Given the description of an element on the screen output the (x, y) to click on. 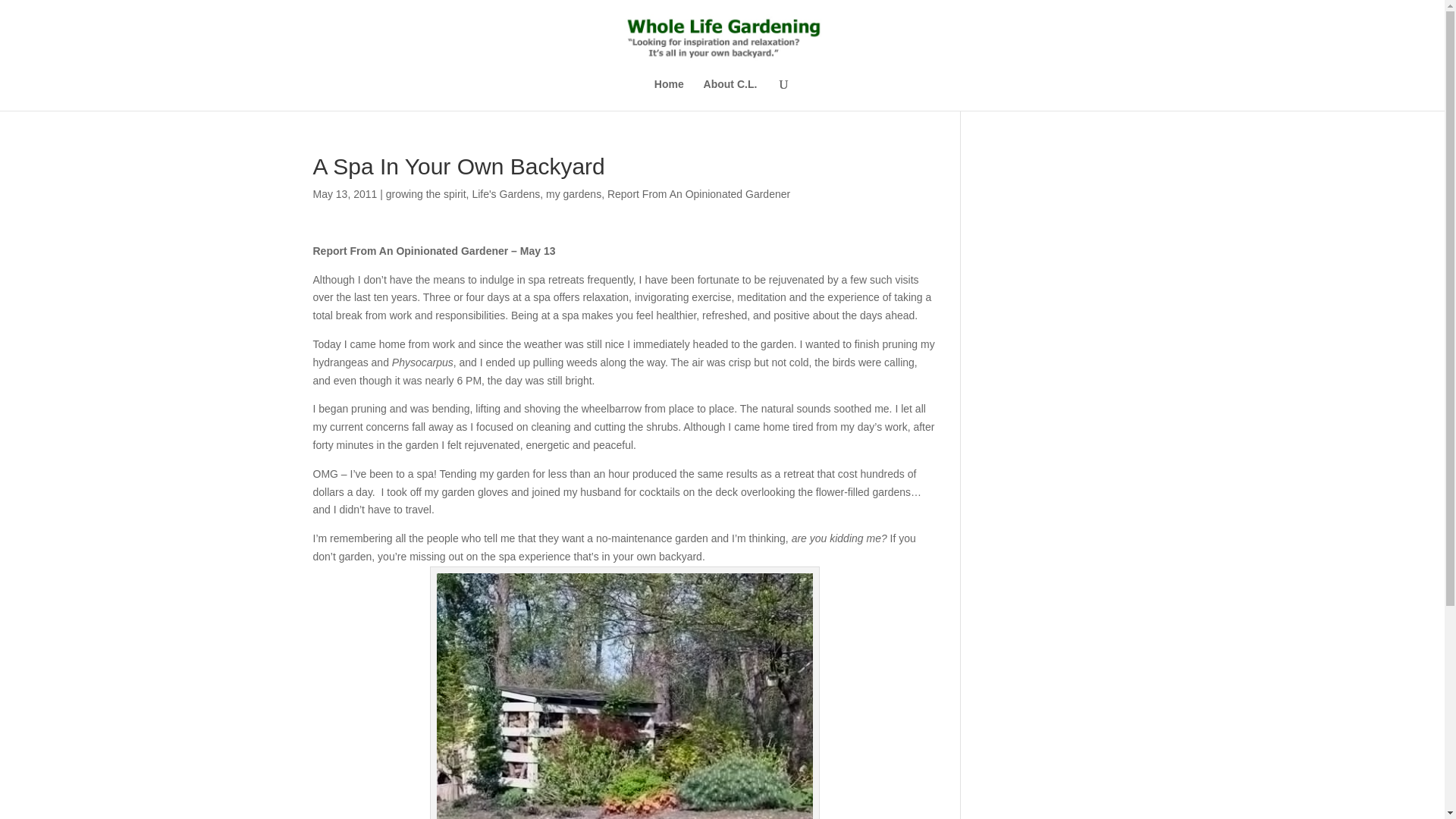
About C.L. (730, 94)
Home (668, 94)
Life's Gardens (505, 193)
Report From An Opinionated Gardener (698, 193)
growing the spirit (425, 193)
my gardens (573, 193)
